Given the description of an element on the screen output the (x, y) to click on. 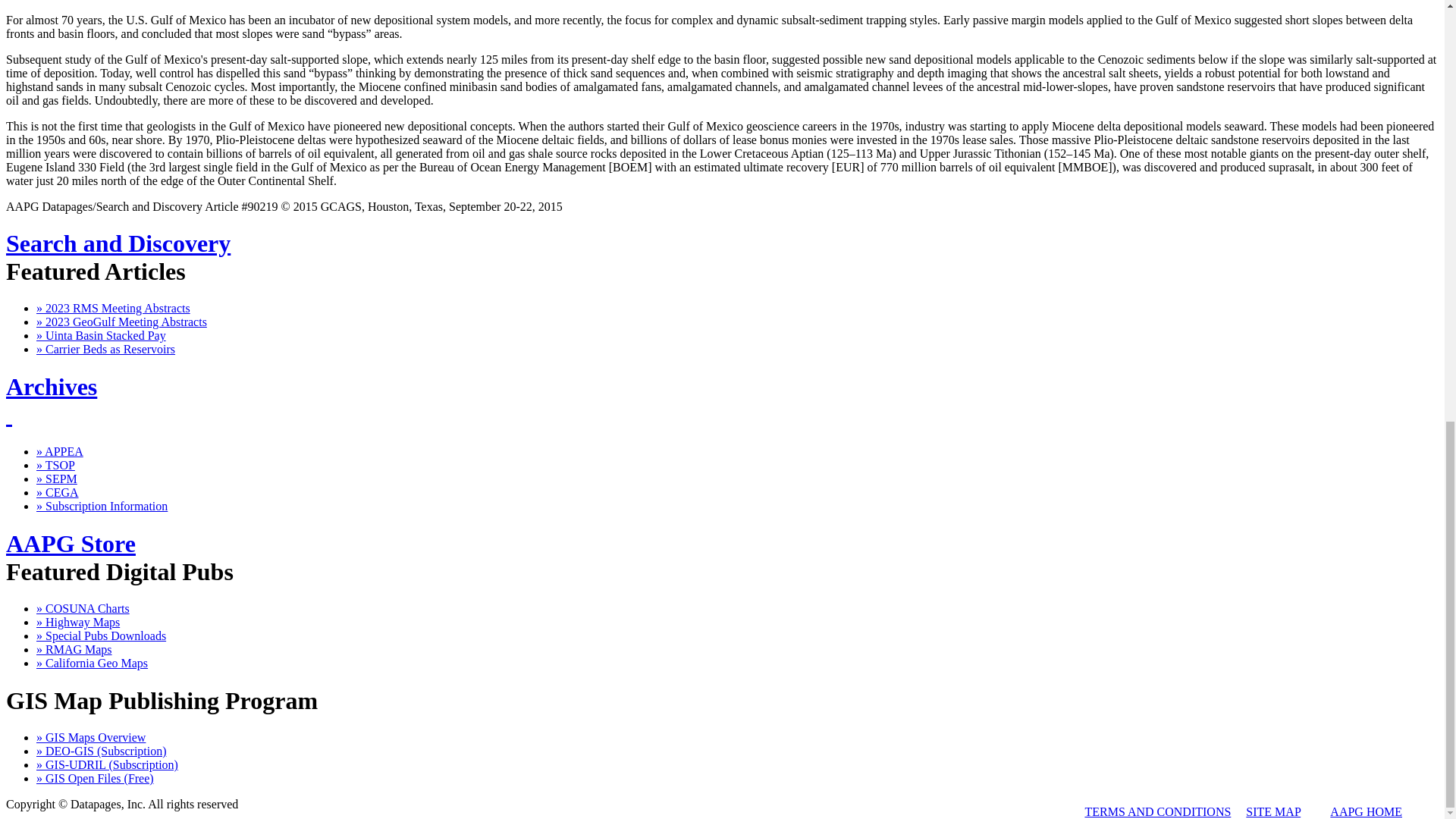
Search and Discovery (117, 243)
